Given the description of an element on the screen output the (x, y) to click on. 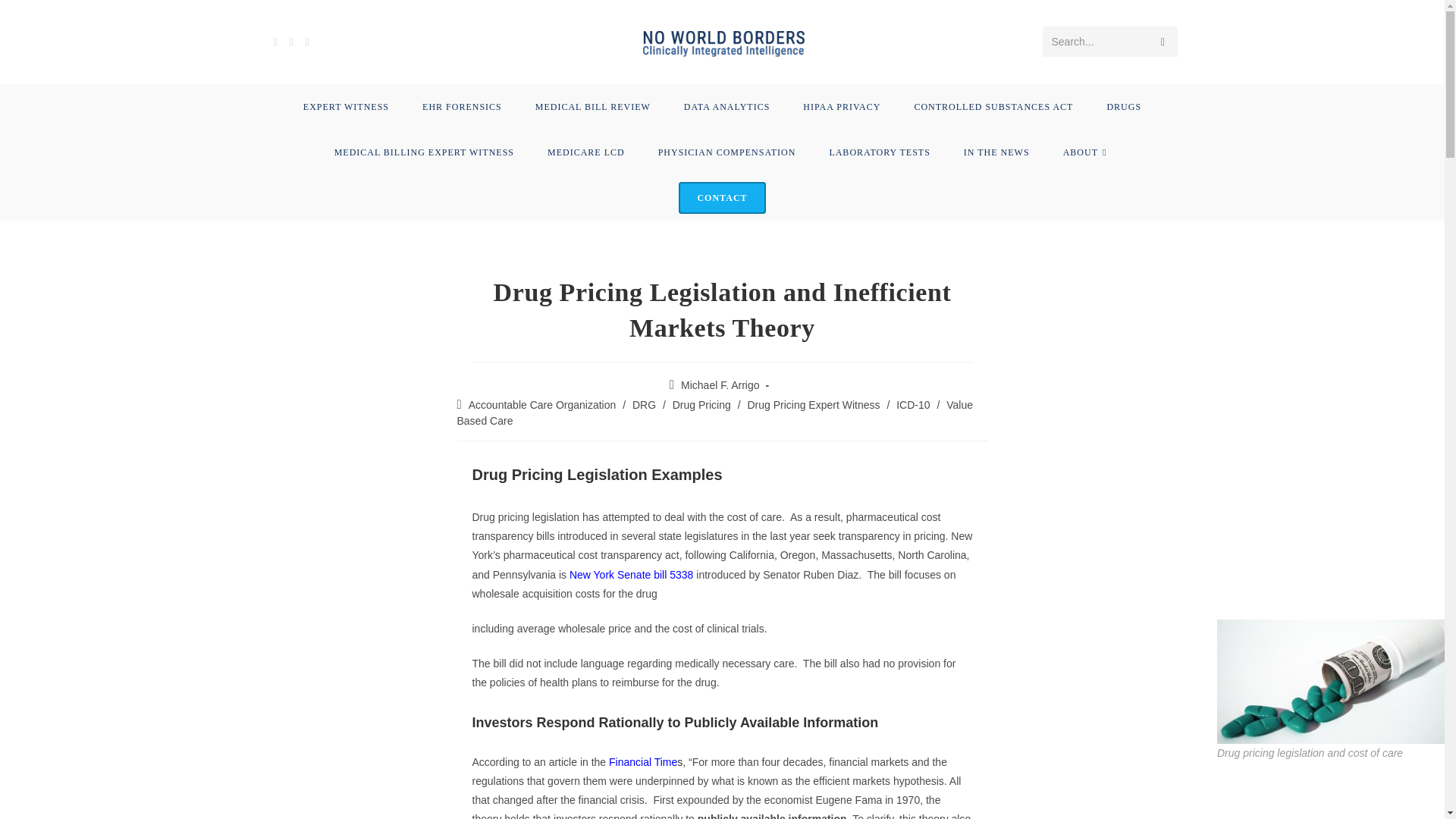
Submit search (1162, 41)
CONTROLLED SUBSTANCES ACT (992, 106)
EHR FORENSICS (462, 106)
DRUGS (1123, 106)
EXPERT WITNESS (346, 106)
IN THE NEWS (996, 152)
Value Based Care (714, 412)
MEDICAL BILLING EXPERT WITNESS (424, 152)
MEDICARE LCD (586, 152)
CONTACT (721, 197)
DRG (643, 404)
Posts by Michael F. Arrigo (719, 385)
PHYSICIAN COMPENSATION (727, 152)
MEDICAL BILL REVIEW (592, 106)
ABOUT (1086, 152)
